Given the description of an element on the screen output the (x, y) to click on. 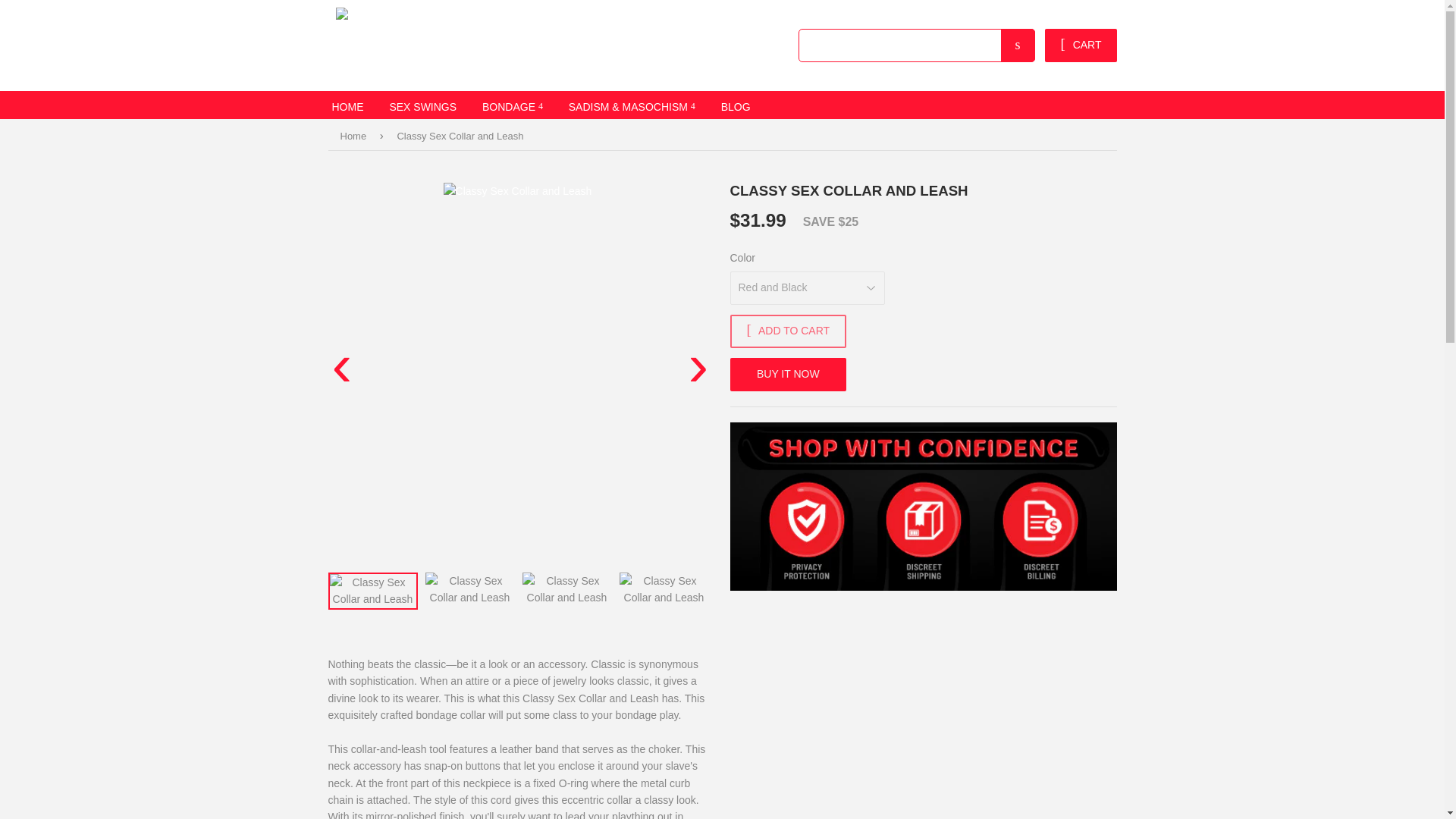
CART (1080, 45)
SEX SWINGS (422, 104)
Back to the frontpage (355, 135)
BONDAGE (512, 104)
Search (1018, 45)
BLOG (735, 104)
HOME (347, 104)
